Given the description of an element on the screen output the (x, y) to click on. 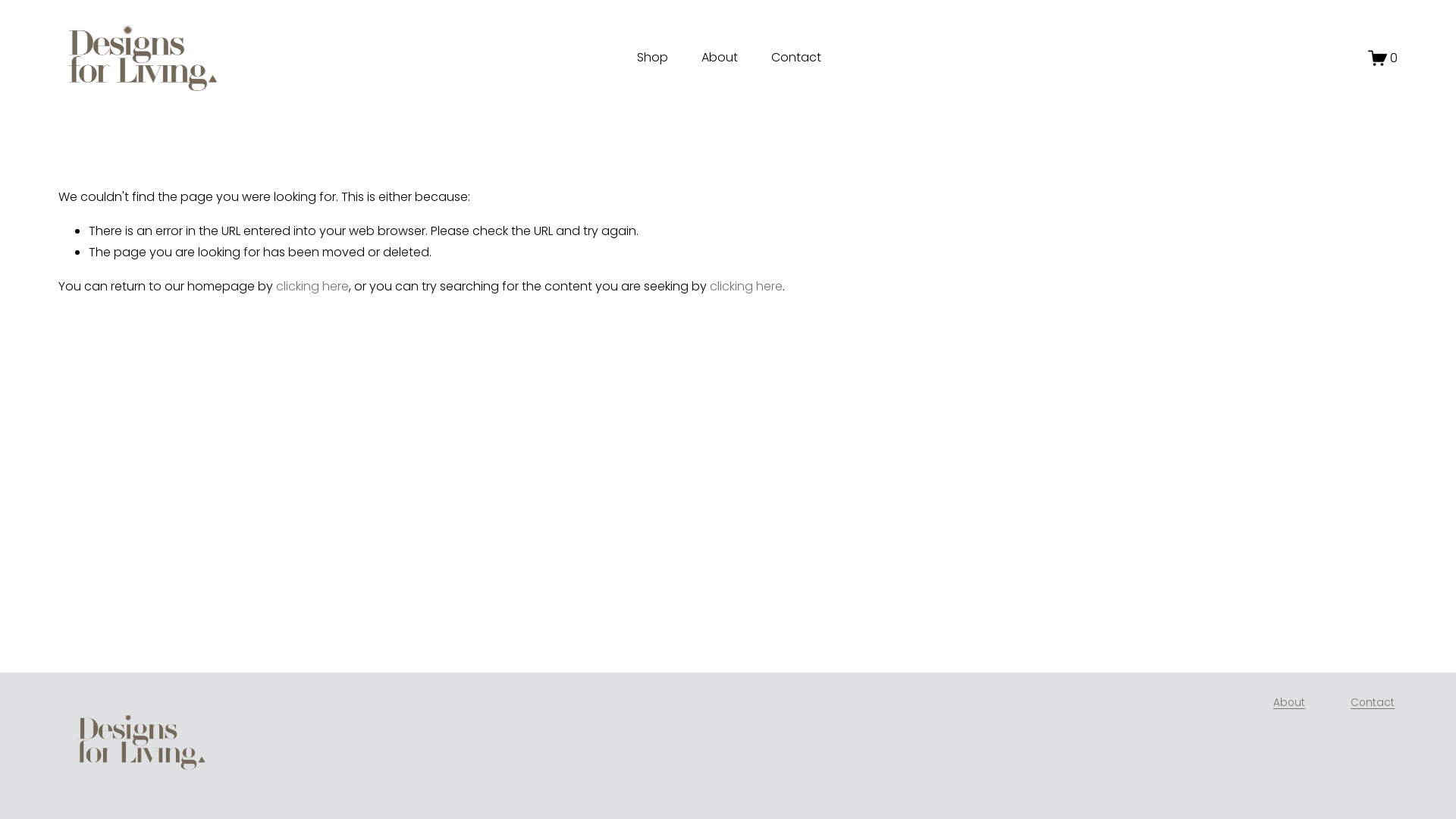
About Element type: text (1289, 702)
clicking here Element type: text (745, 285)
Contact Element type: text (796, 58)
clicking here Element type: text (312, 285)
Contact Element type: text (1372, 702)
About Element type: text (719, 58)
Shop Element type: text (652, 58)
0 Element type: text (1383, 57)
